Given the description of an element on the screen output the (x, y) to click on. 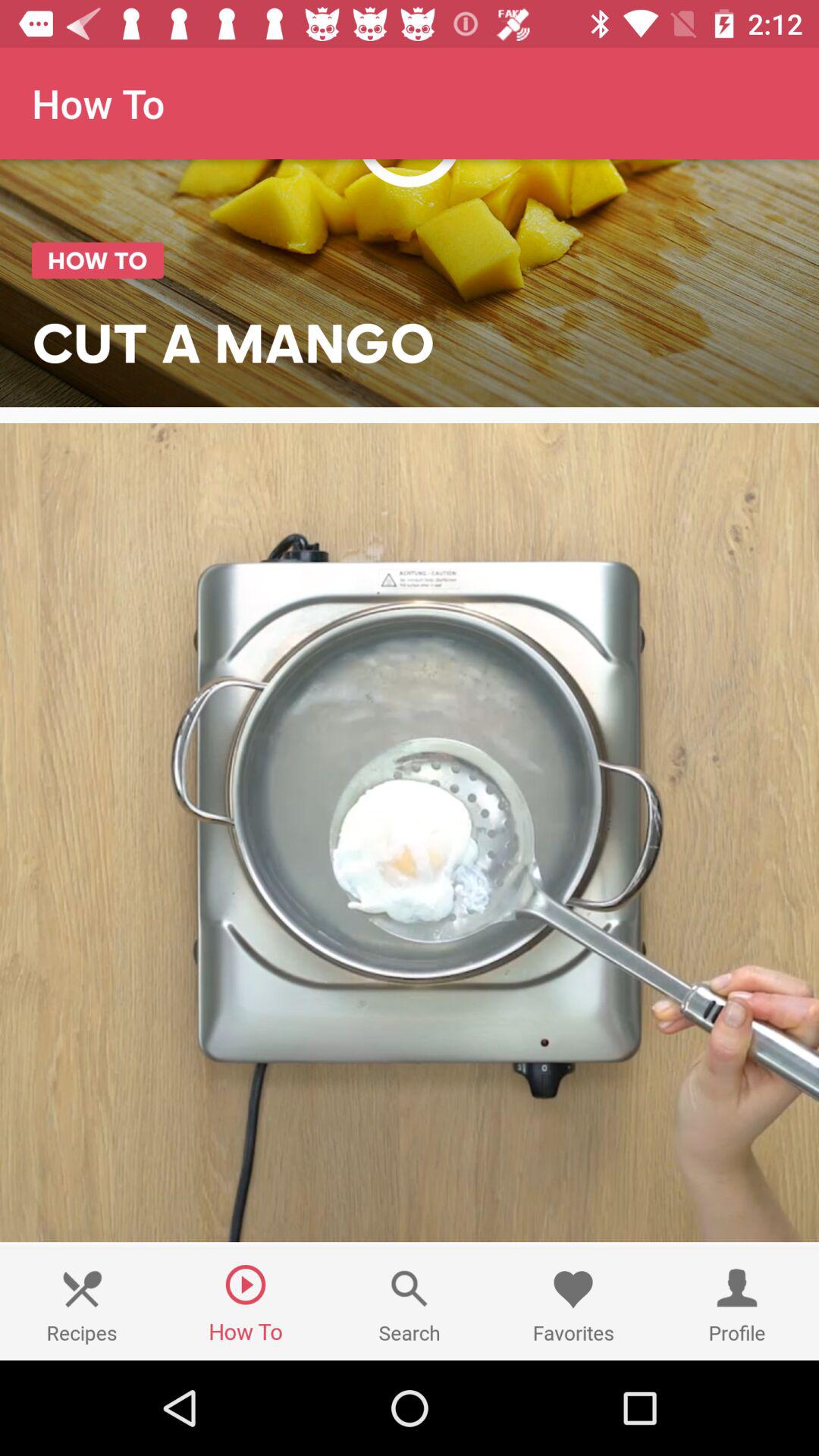
click on the recipes image option (82, 1289)
select the image search right to image how to (409, 1304)
select the play icon which above the text how to (245, 1284)
